Given the description of an element on the screen output the (x, y) to click on. 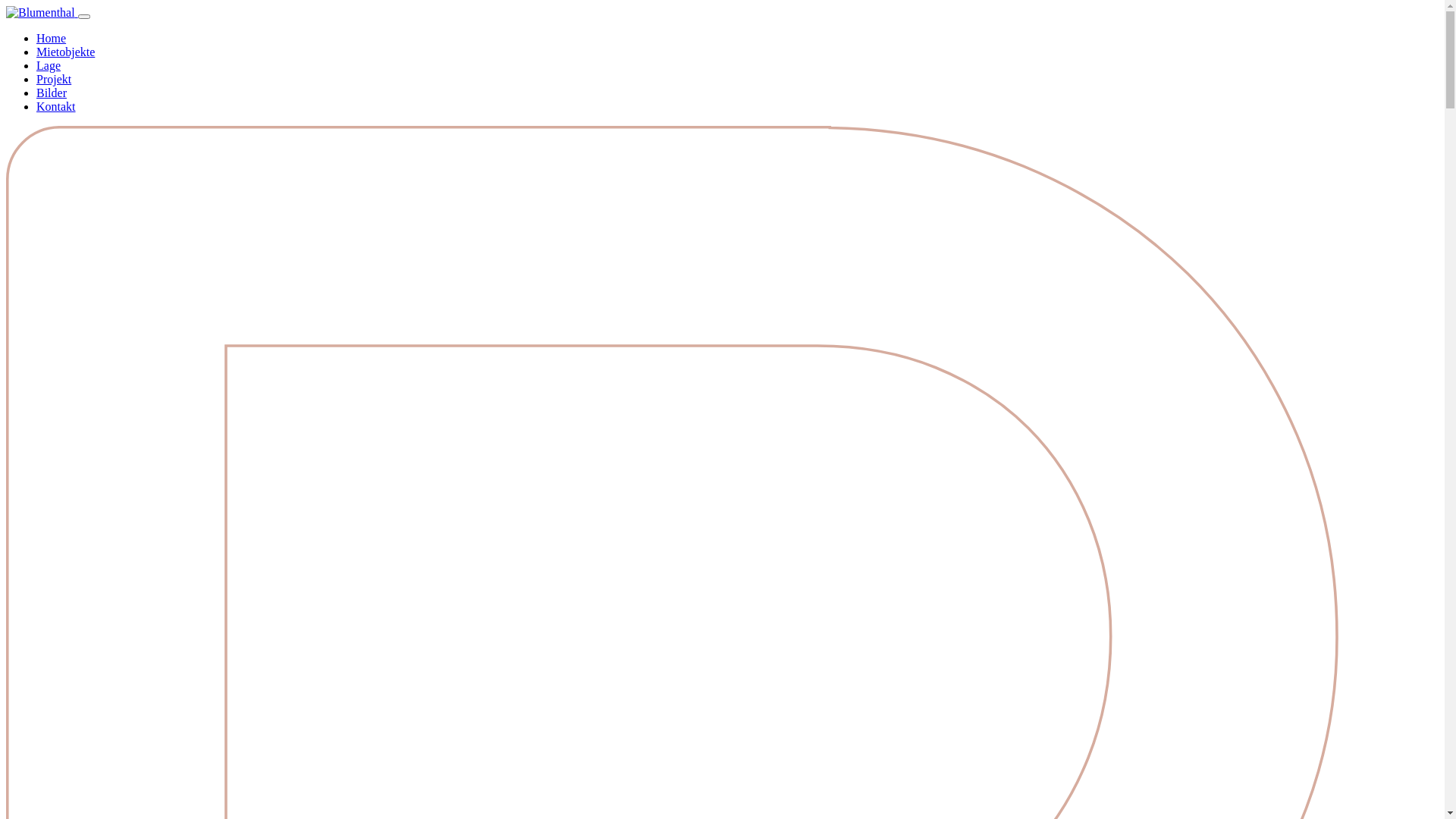
Projekt Element type: text (53, 78)
Mietobjekte Element type: text (65, 51)
Lage Element type: text (48, 65)
Home Element type: text (50, 37)
Kontakt Element type: text (55, 106)
Bilder Element type: text (51, 92)
